Given the description of an element on the screen output the (x, y) to click on. 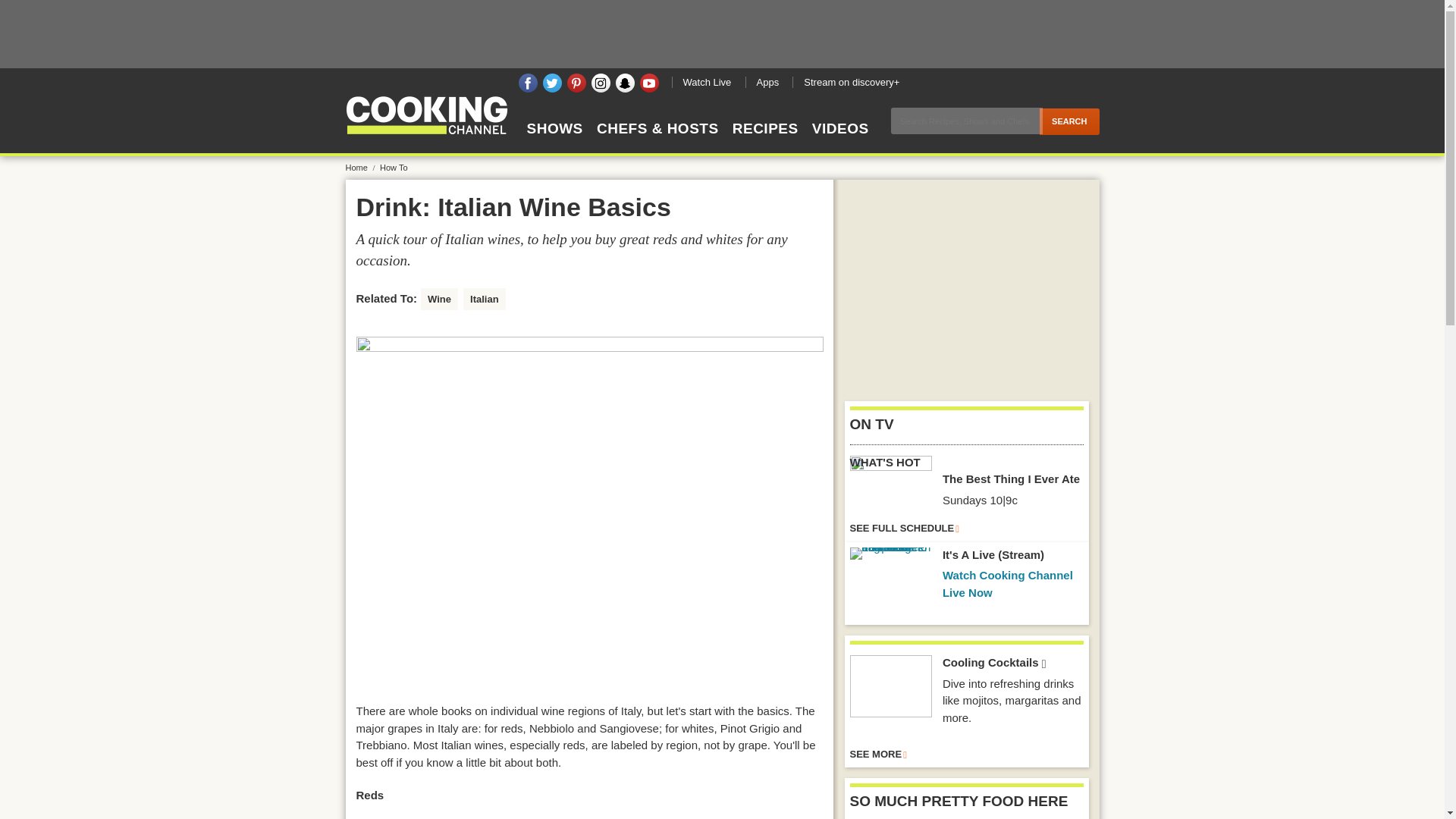
Follow us on Pinterest (576, 82)
Italian (484, 299)
RECIPES (764, 141)
How To (393, 166)
Follow us on YouTube (649, 82)
VIDEOS (840, 141)
Follow us on Facebook (527, 82)
The Best Thing I Ever Ate (889, 478)
Follow us on Instagram (600, 82)
Follow us on Twitter (552, 82)
